Given the description of an element on the screen output the (x, y) to click on. 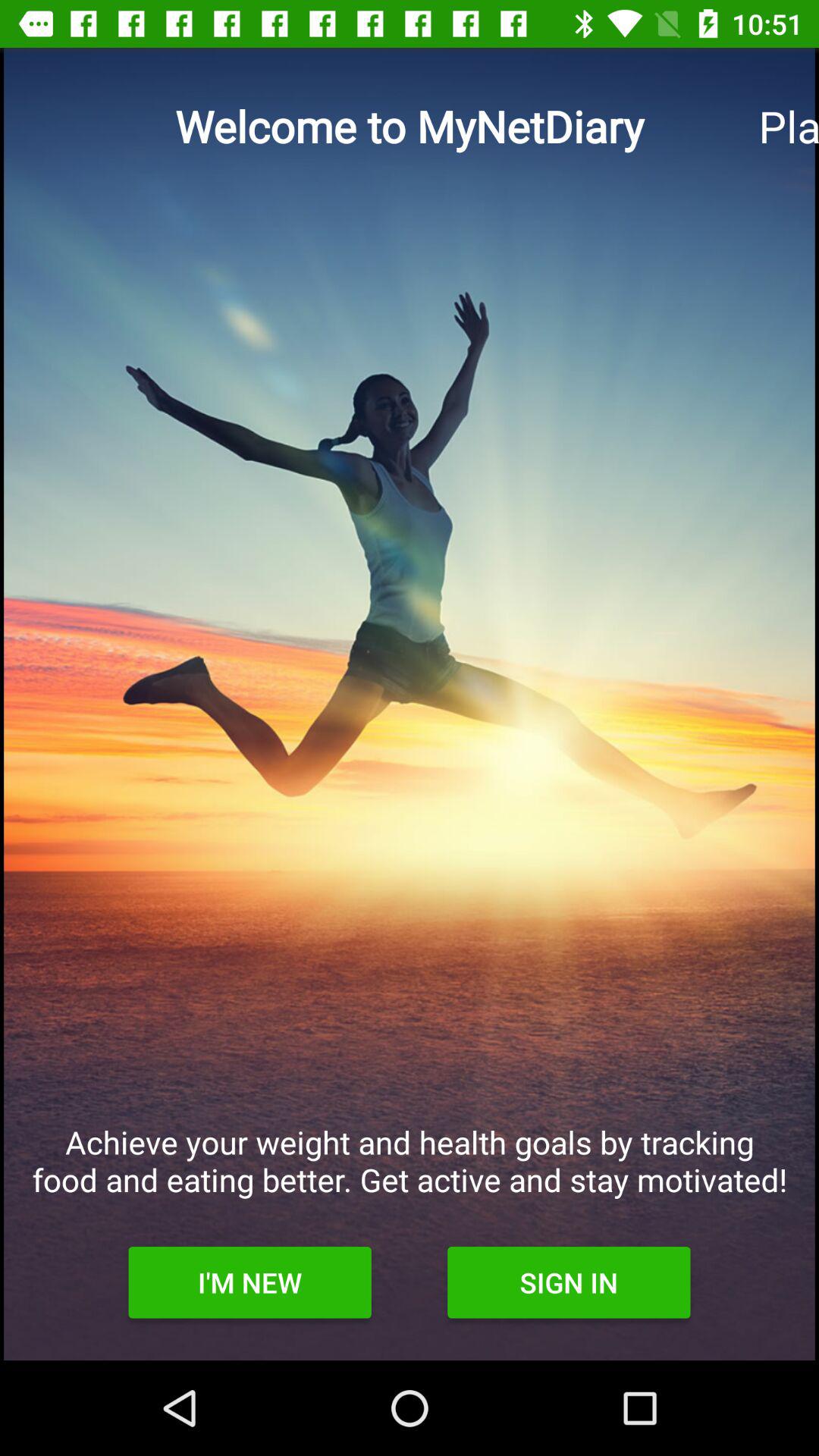
flip until the i'm new item (249, 1282)
